Given the description of an element on the screen output the (x, y) to click on. 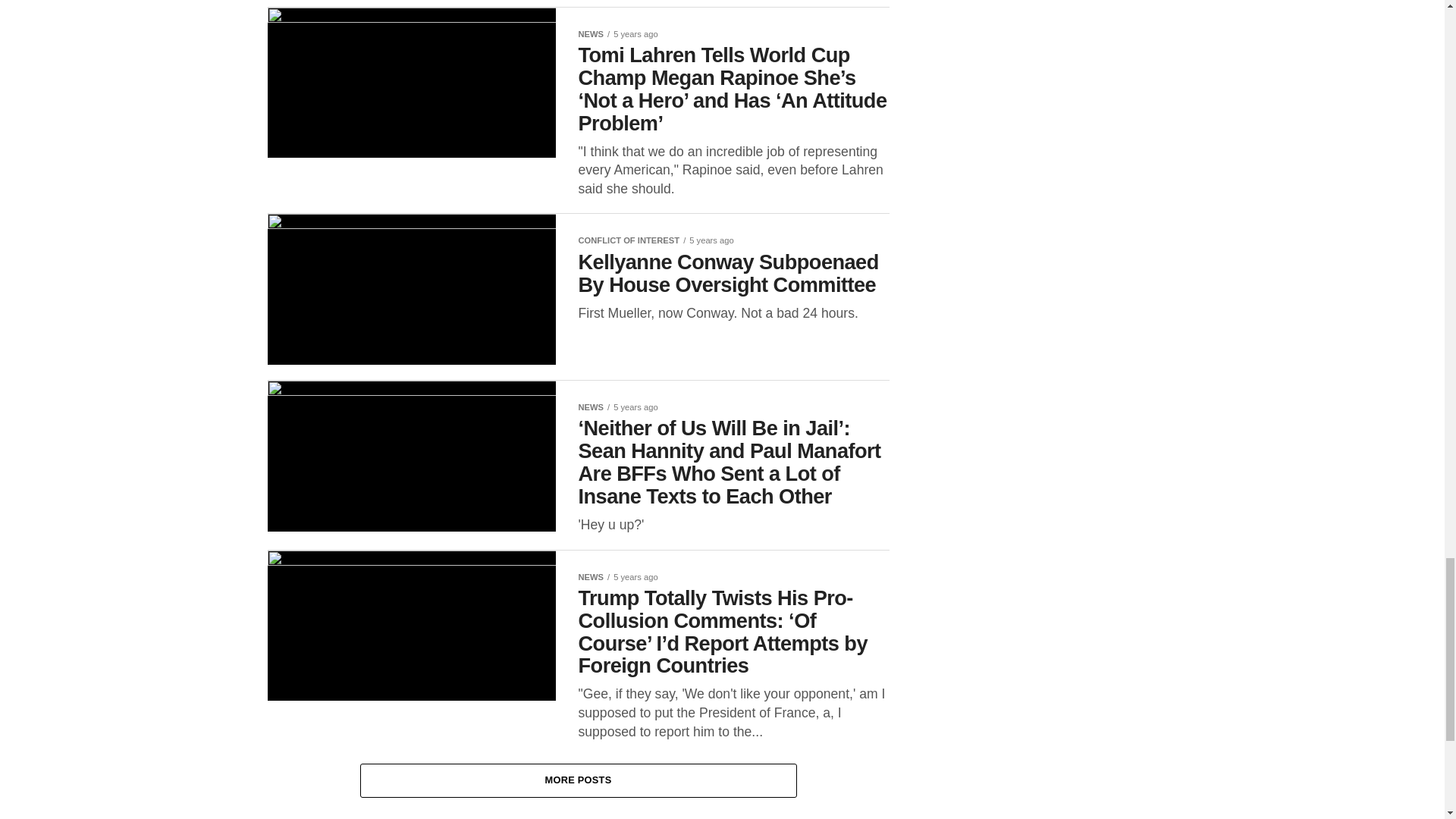
MORE POSTS (577, 780)
